Given the description of an element on the screen output the (x, y) to click on. 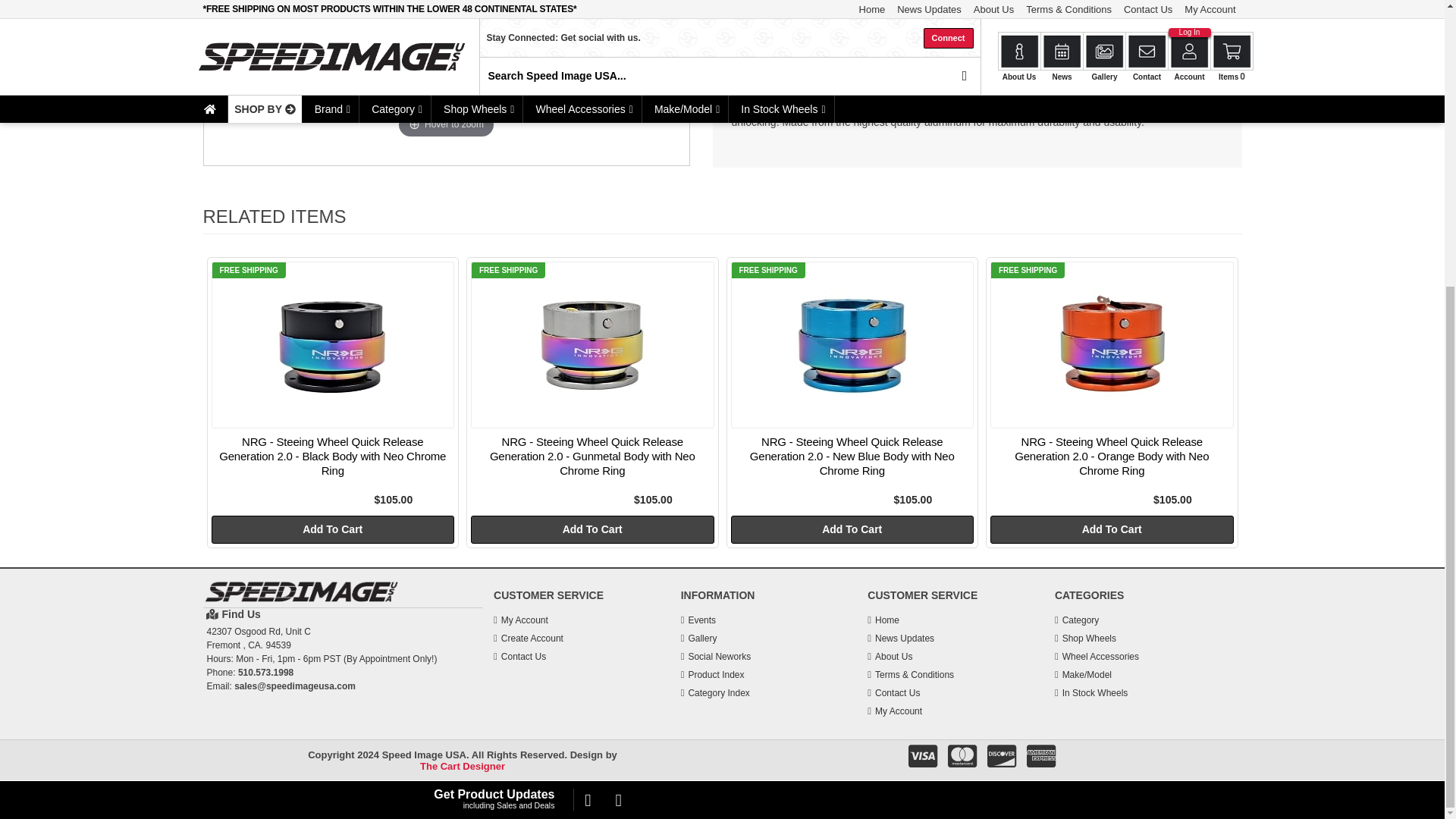
Like Us on Facebook (587, 367)
Find Us (343, 614)
